Given the description of an element on the screen output the (x, y) to click on. 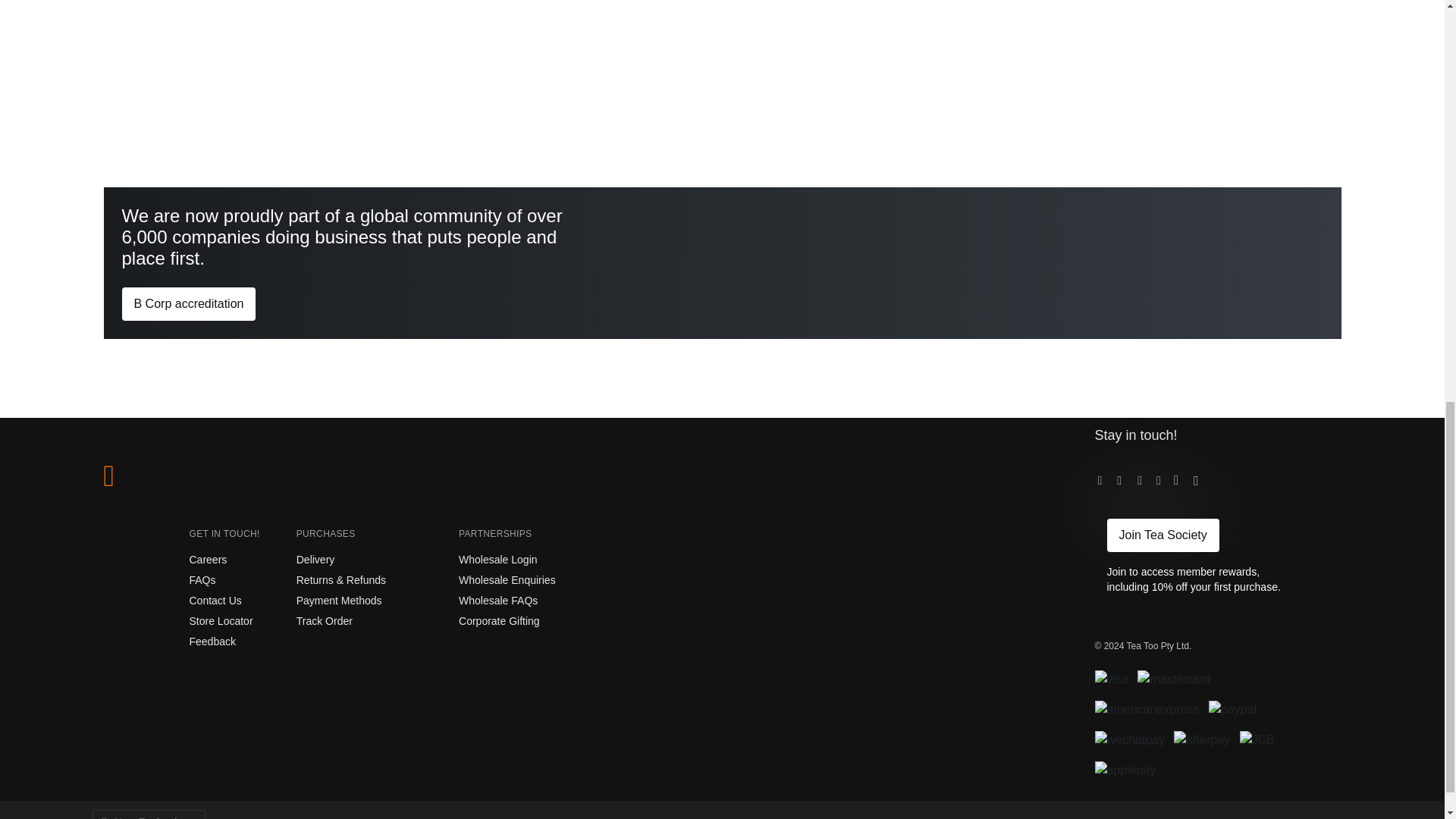
Go to Careers (208, 559)
Go to Contact Us (215, 600)
Feedback (212, 641)
Go to FAQs (202, 580)
Go to Delivery (315, 559)
Store Locator (221, 621)
